Given the description of an element on the screen output the (x, y) to click on. 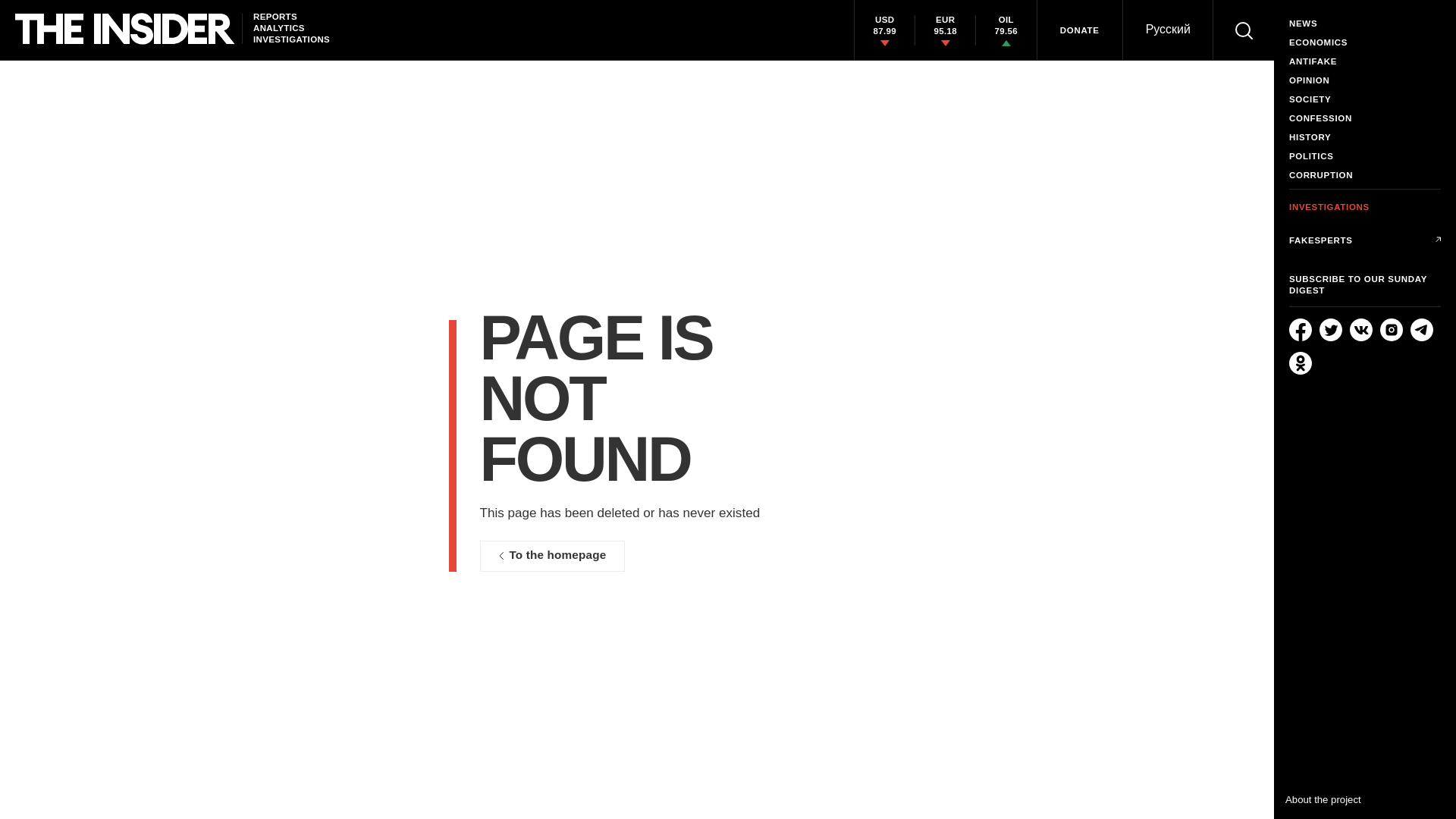
To the homepage (551, 555)
FAKESPERTS (1364, 239)
INVESTIGATIONS (1364, 203)
DONATE (1079, 29)
SUBSCRIBE TO OUR SUNDAY DIGEST (1364, 284)
ANTIFAKE (1364, 61)
POLITICS (1364, 156)
OPINION (1364, 80)
NEWS (1364, 23)
About the project (1323, 799)
